Given the description of an element on the screen output the (x, y) to click on. 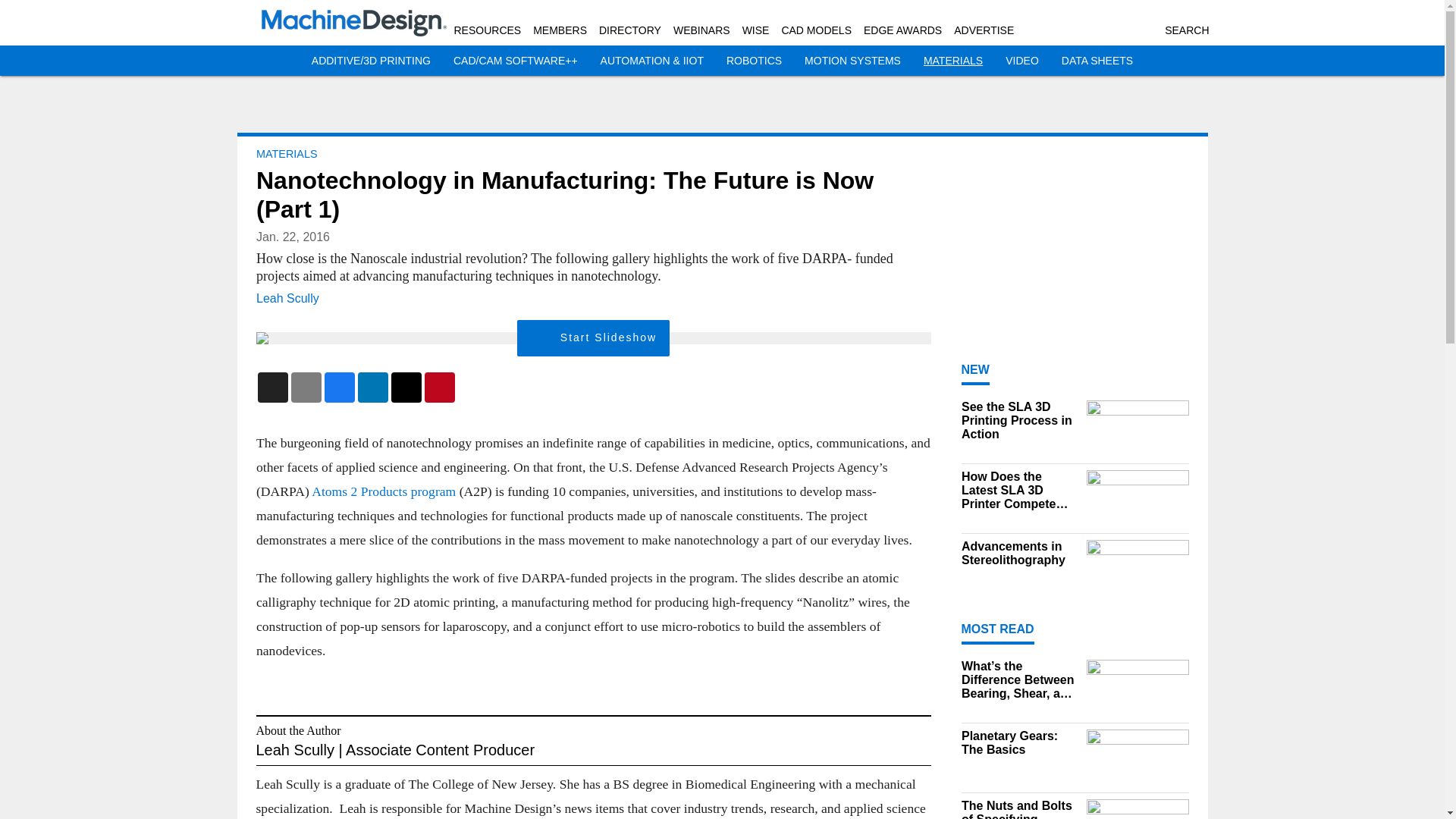
VIDEO (1022, 60)
WEBINARS (701, 30)
MATERIALS (952, 60)
RESOURCES (486, 30)
WISE (756, 30)
MEMBERS (559, 30)
ROBOTICS (753, 60)
MATERIALS (286, 153)
CAD MODELS (815, 30)
SEARCH (1186, 30)
EDGE AWARDS (902, 30)
Leah Scully (287, 297)
Atoms 2 Products program (383, 491)
Start Slideshow (592, 338)
ADVERTISE (983, 30)
